Given the description of an element on the screen output the (x, y) to click on. 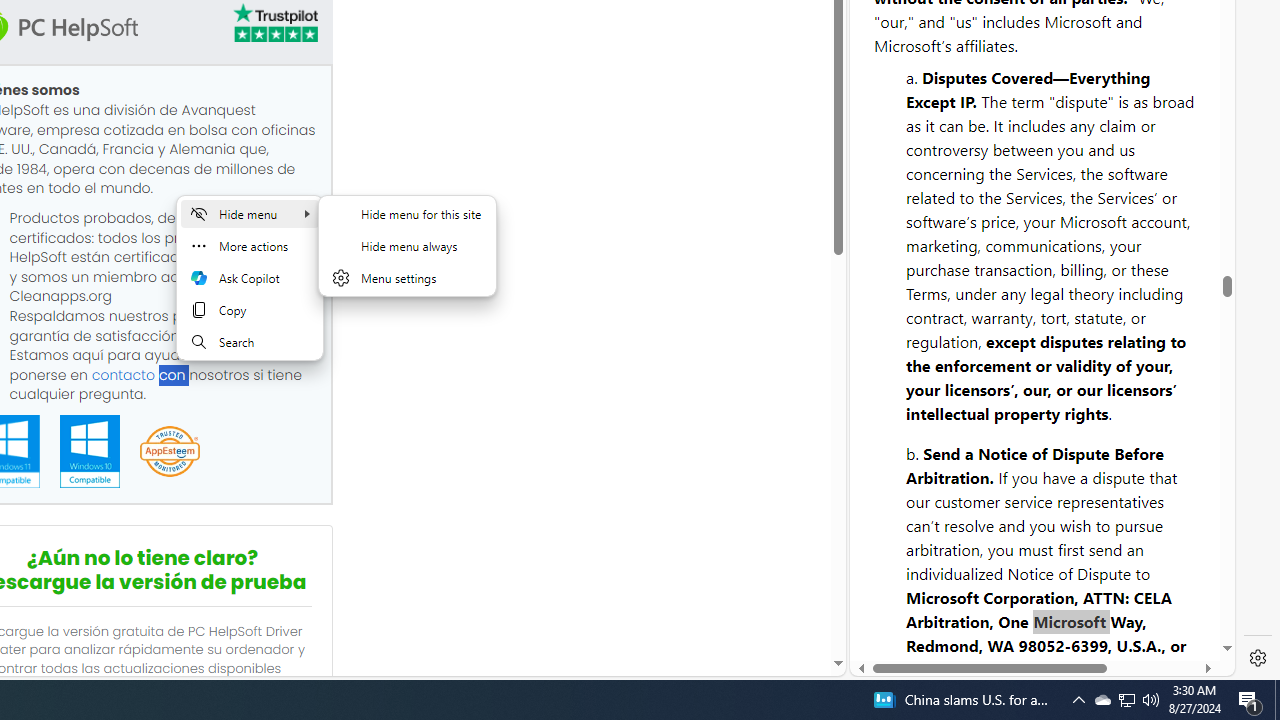
Hide menu (407, 245)
Open in New Tab (1042, 631)
